Given the description of an element on the screen output the (x, y) to click on. 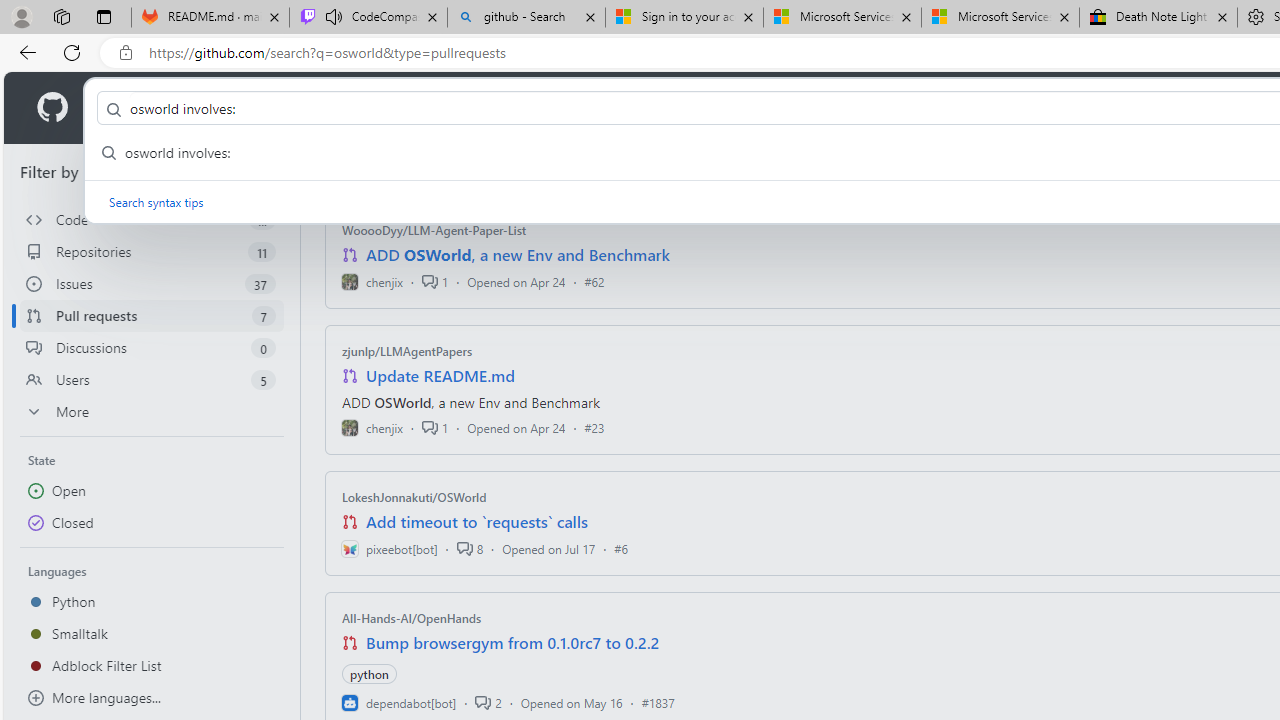
#62 (594, 281)
8 (469, 548)
All-Hands-AI/OpenHands (411, 618)
Enterprise (563, 107)
Pricing (649, 107)
Open Source (446, 107)
Resources (330, 107)
